Given the description of an element on the screen output the (x, y) to click on. 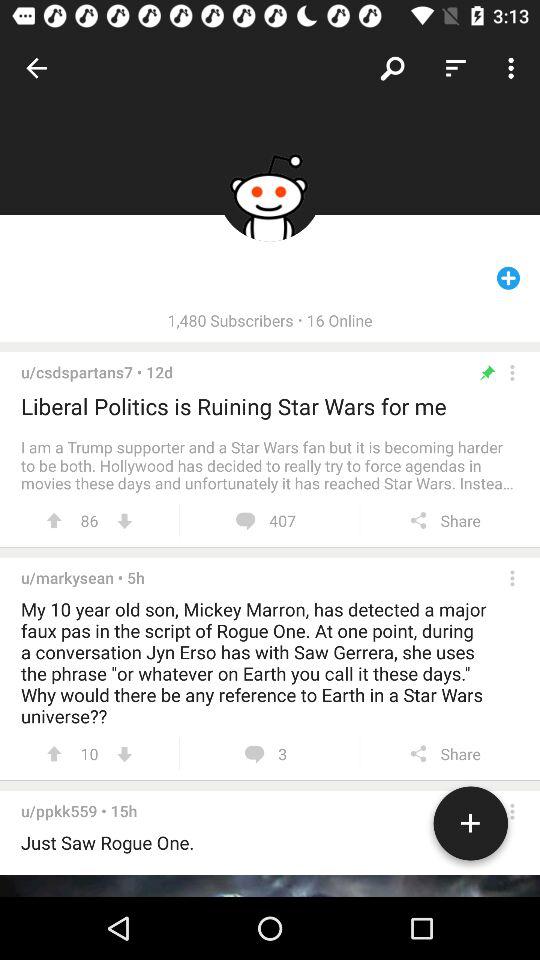
down (124, 753)
